Given the description of an element on the screen output the (x, y) to click on. 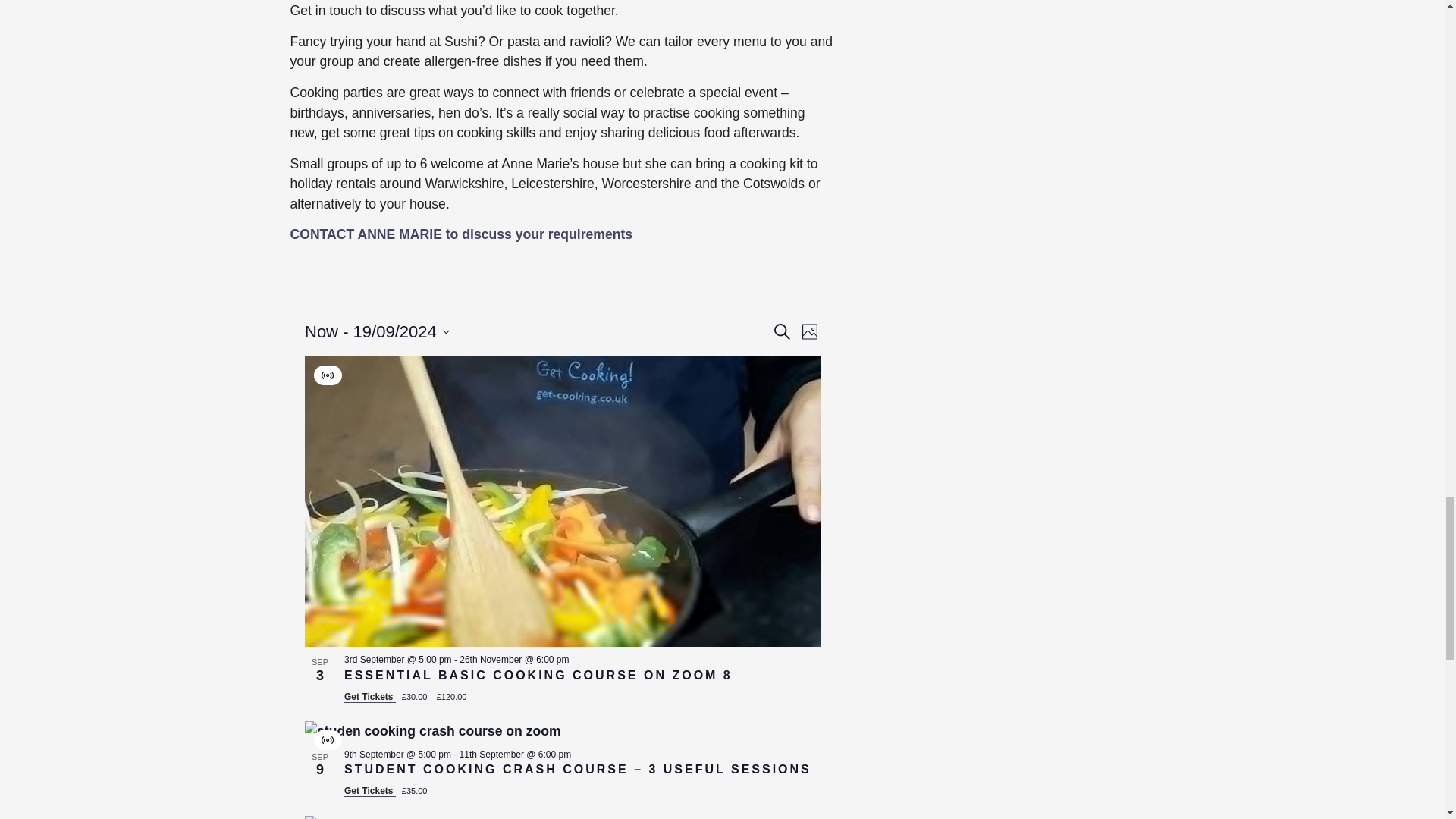
Virtual (327, 375)
Virtual (327, 739)
Click to toggle datepicker (376, 331)
ESSENTIAL BASIC COOKING COURSE ON ZOOM 8 (537, 675)
